Given the description of an element on the screen output the (x, y) to click on. 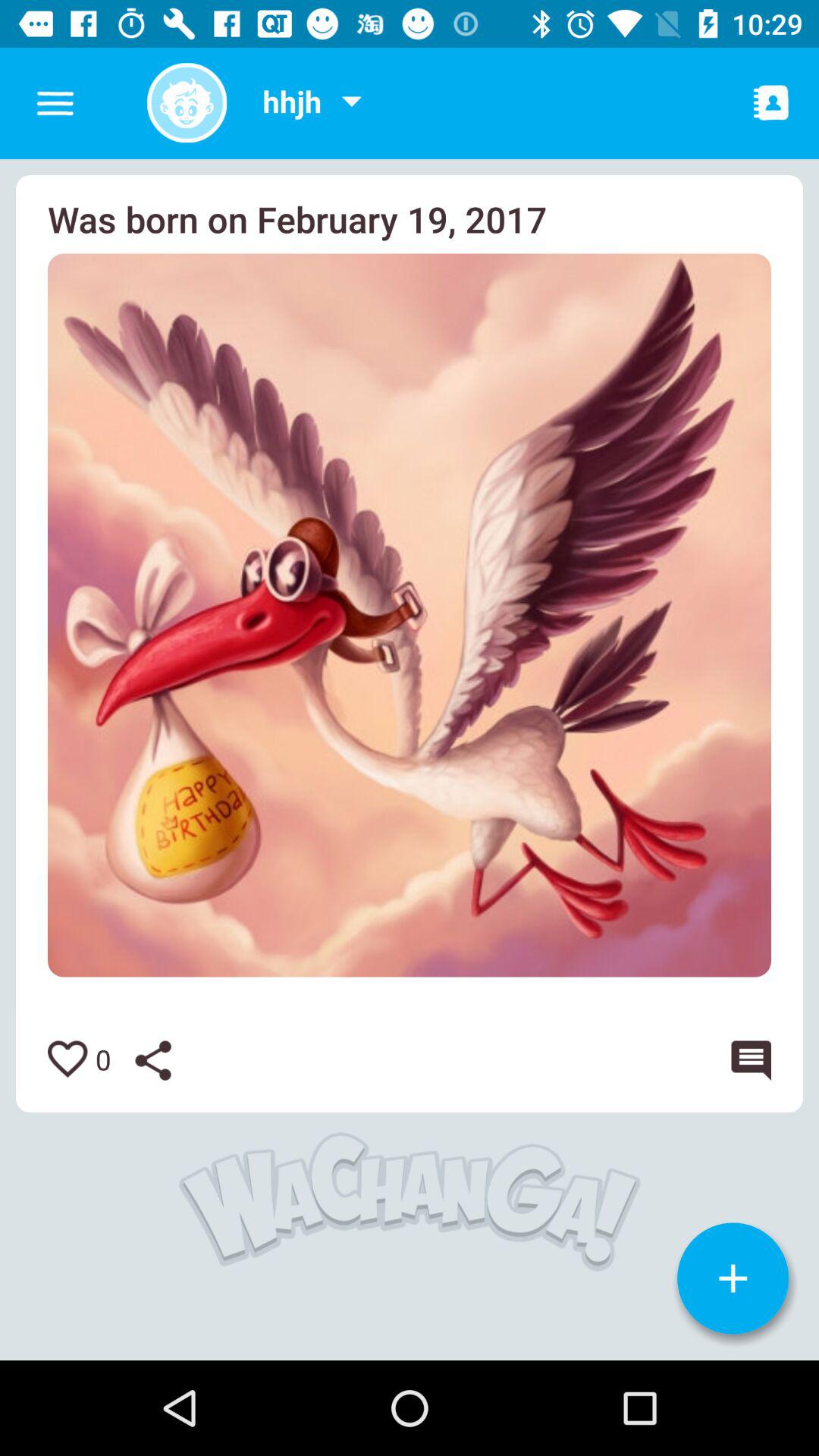
share image (165, 1060)
